Given the description of an element on the screen output the (x, y) to click on. 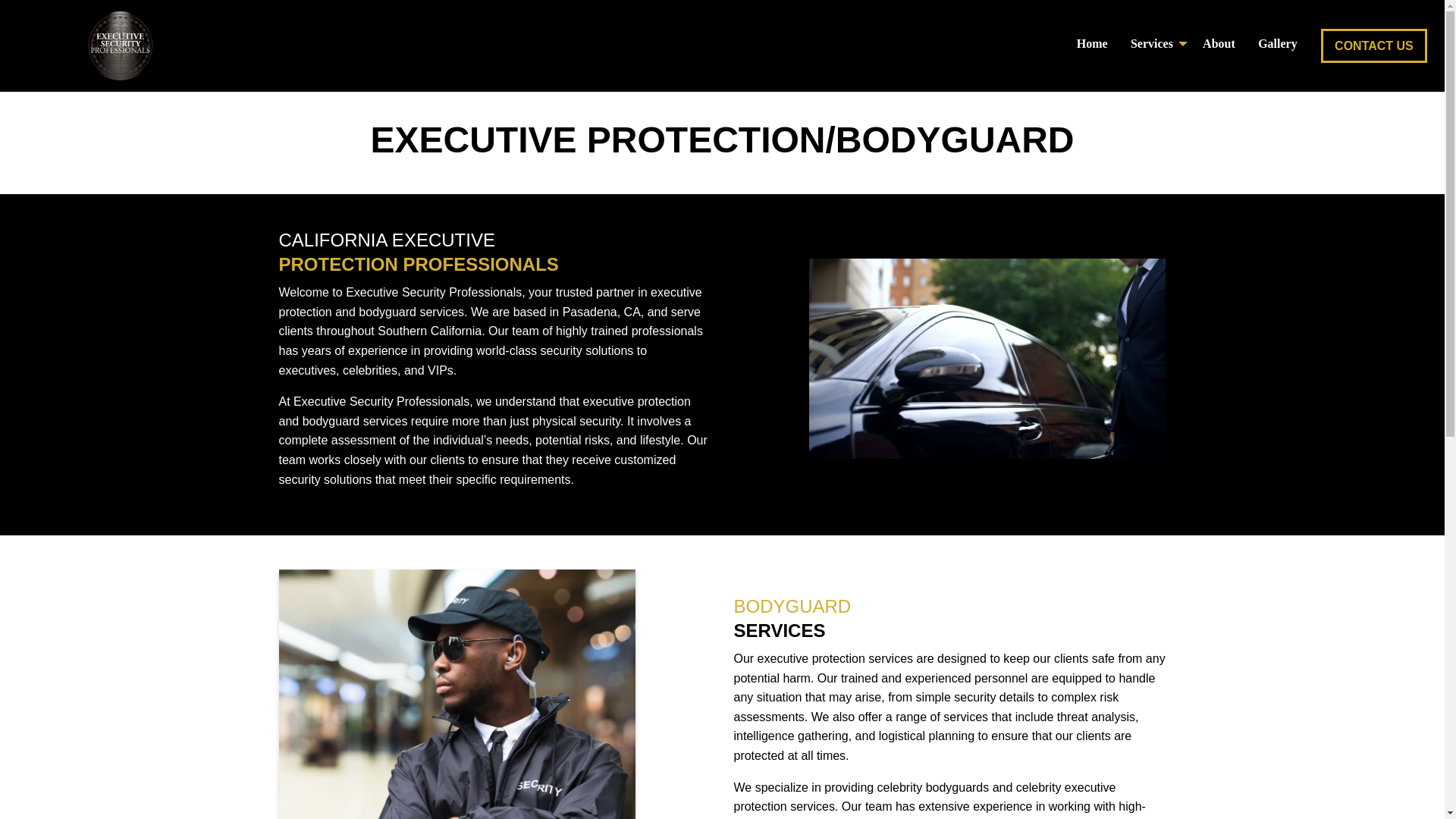
Gallery (1277, 42)
Home (1091, 42)
Services (1155, 42)
About (1218, 42)
CONTACT US (1373, 45)
